Given the description of an element on the screen output the (x, y) to click on. 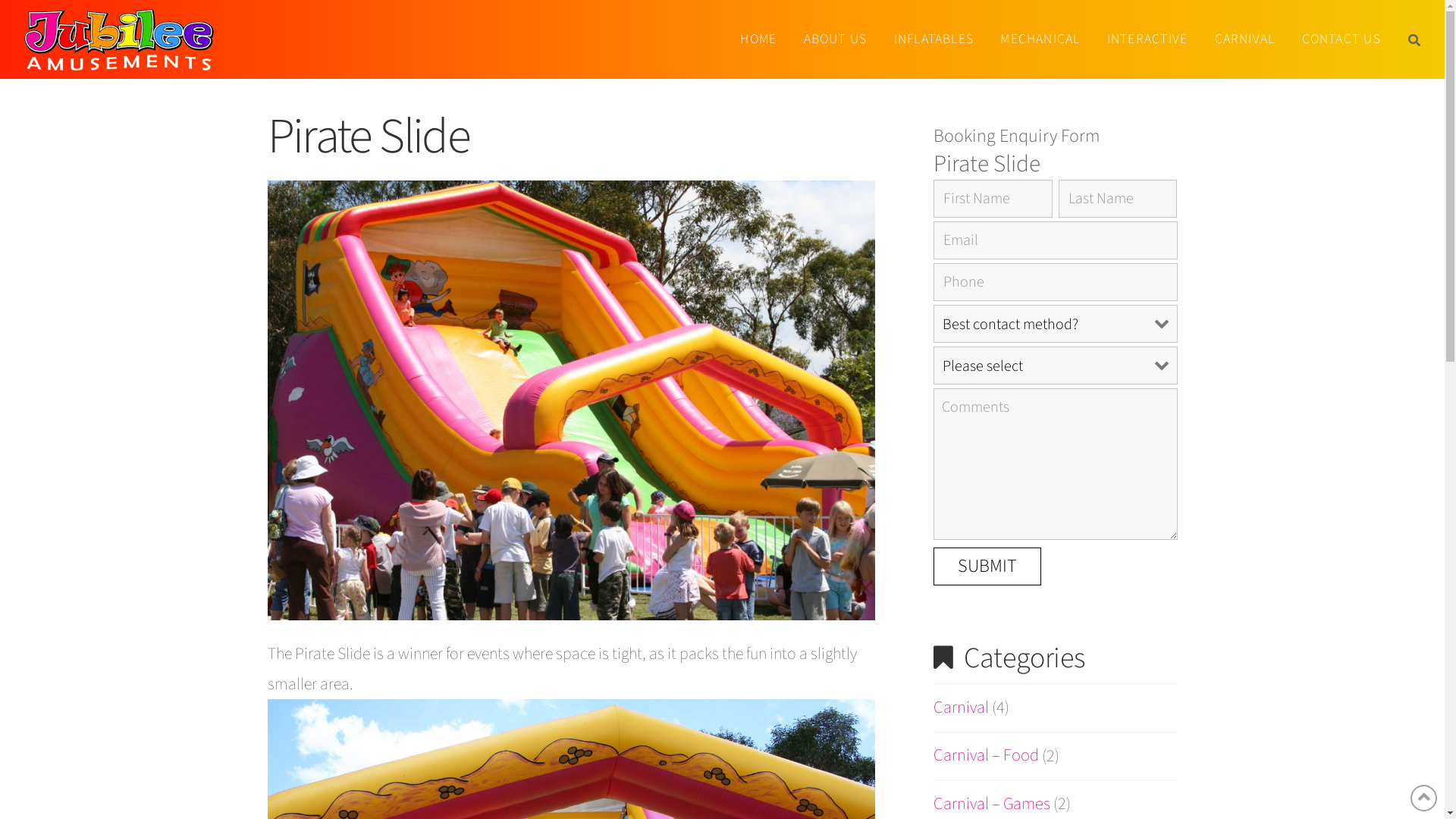
INTERACTIVE Element type: text (1147, 39)
CARNIVAL Element type: text (1243, 39)
ABOUT US Element type: text (834, 39)
MECHANICAL Element type: text (1039, 39)
Submit Element type: text (987, 566)
INFLATABLES Element type: text (932, 39)
HOME Element type: text (757, 39)
Back to Top Element type: hover (1423, 797)
Carnival Element type: text (960, 708)
CONTACT US Element type: text (1340, 39)
